Given the description of an element on the screen output the (x, y) to click on. 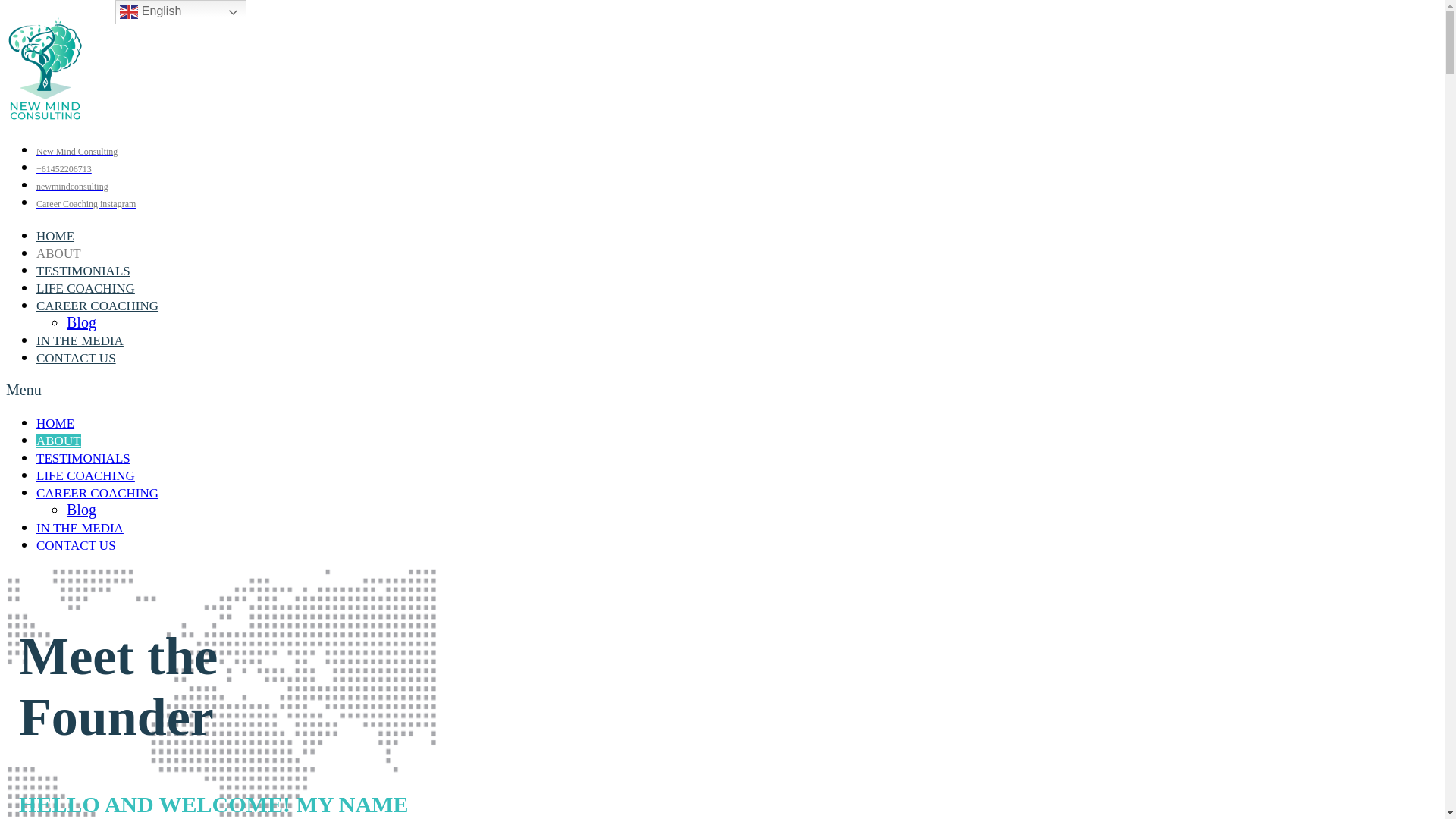
English Element type: text (180, 12)
HOME Element type: text (55, 423)
New Mind Consulting Element type: text (76, 151)
+61452206713 Element type: text (63, 168)
CONTACT US Element type: text (76, 358)
newmindconsulting Element type: text (72, 186)
Blog Element type: text (81, 321)
ABOUT Element type: text (58, 253)
Blog Element type: text (81, 509)
LIFE COACHING Element type: text (85, 475)
IN THE MEDIA Element type: text (79, 527)
CAREER COACHING Element type: text (97, 305)
Career Coaching instagram Element type: text (85, 203)
ABOUT Element type: text (58, 440)
CAREER COACHING Element type: text (97, 493)
CONTACT US Element type: text (76, 545)
LIFE COACHING Element type: text (85, 288)
Skip to content Element type: text (5, 14)
HOME Element type: text (55, 236)
IN THE MEDIA Element type: text (79, 340)
TESTIMONIALS Element type: text (83, 270)
TESTIMONIALS Element type: text (83, 458)
